Given the description of an element on the screen output the (x, y) to click on. 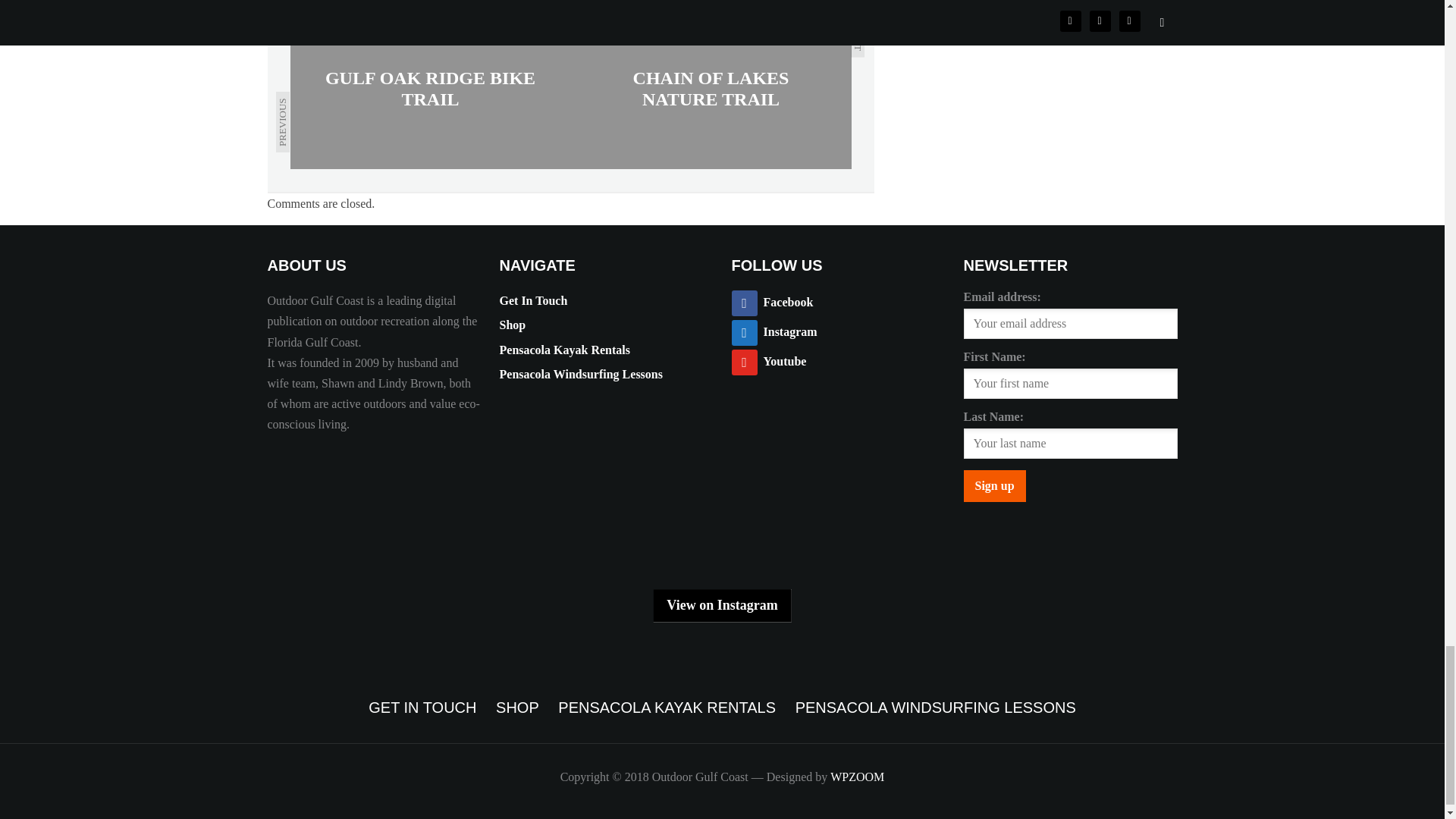
Gulf Oak Ridge Bike Trail (429, 88)
Sign up (993, 486)
